Given the description of an element on the screen output the (x, y) to click on. 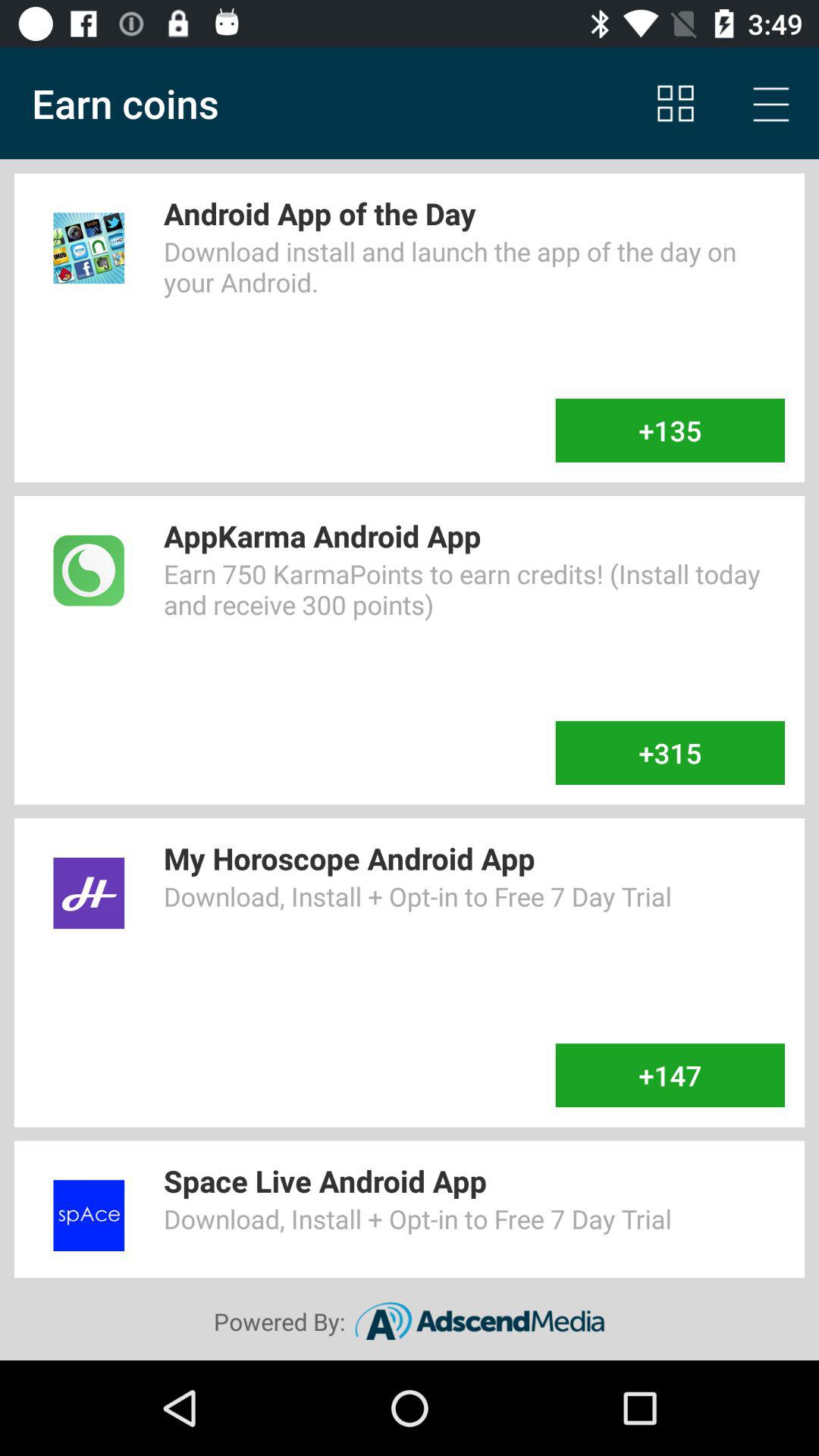
click the icon at the bottom right corner (669, 1075)
